Given the description of an element on the screen output the (x, y) to click on. 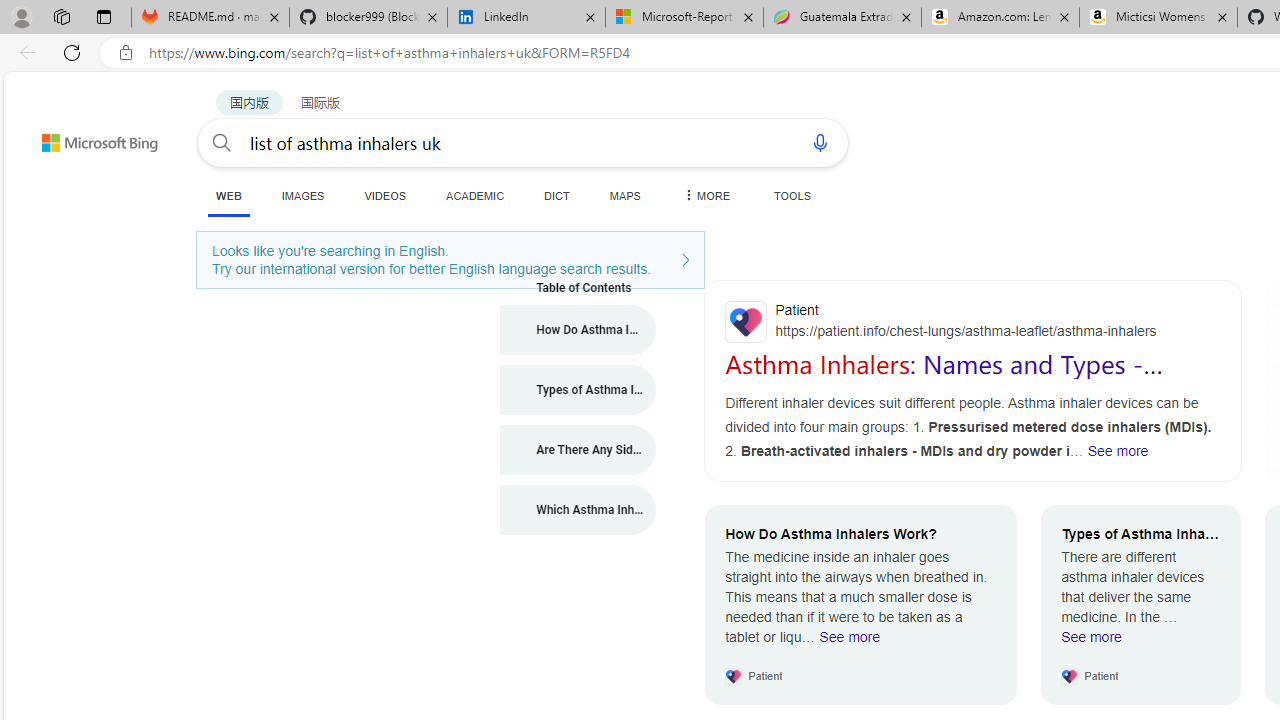
Asthma Inhalers: Names and Types - Patient (943, 378)
WEB (228, 196)
MORE (705, 195)
MAPS (624, 195)
Patient (973, 321)
Search button (221, 142)
Search using voice (820, 142)
